Given the description of an element on the screen output the (x, y) to click on. 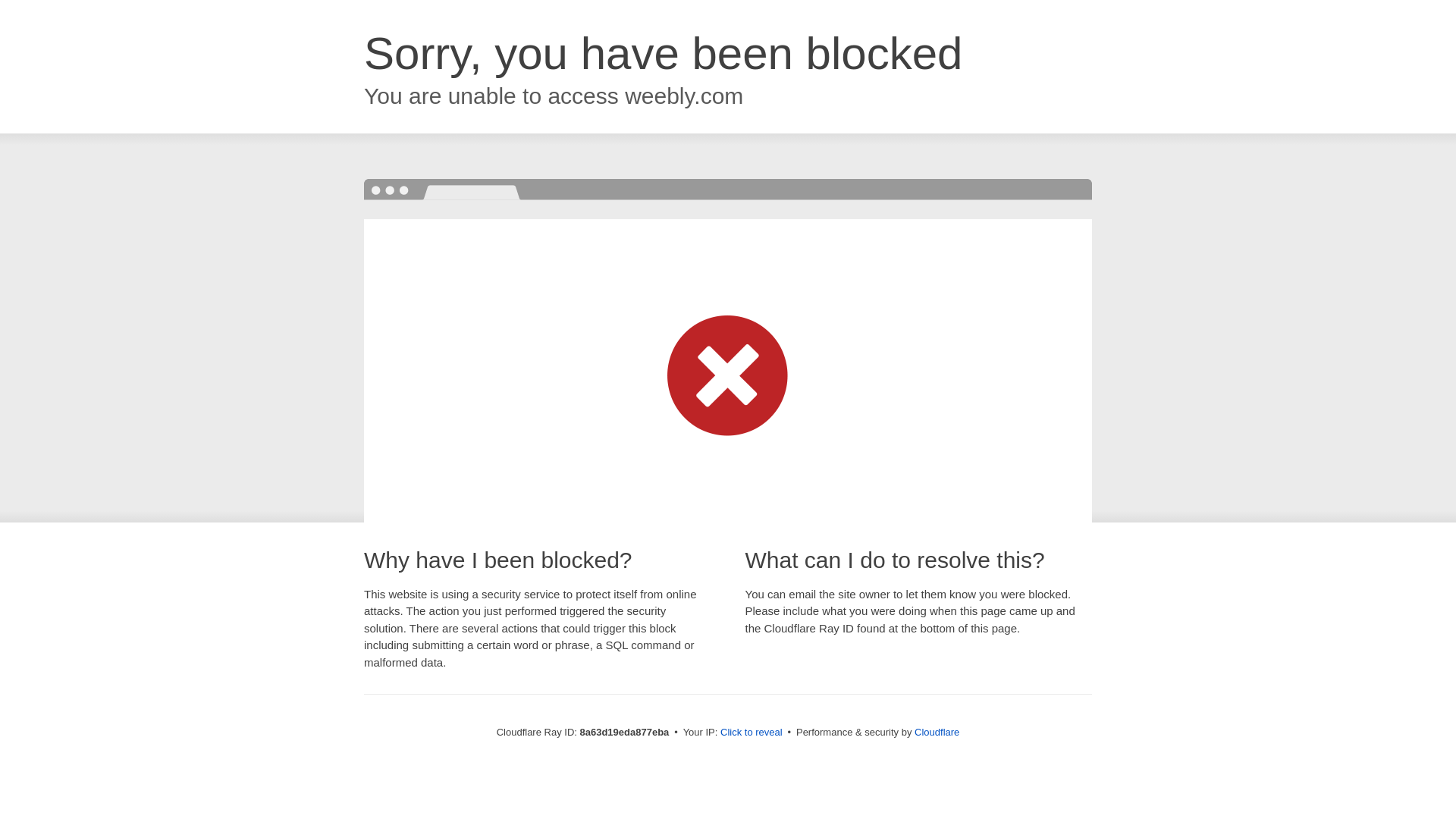
Click to reveal (751, 732)
Cloudflare (936, 731)
